Given the description of an element on the screen output the (x, y) to click on. 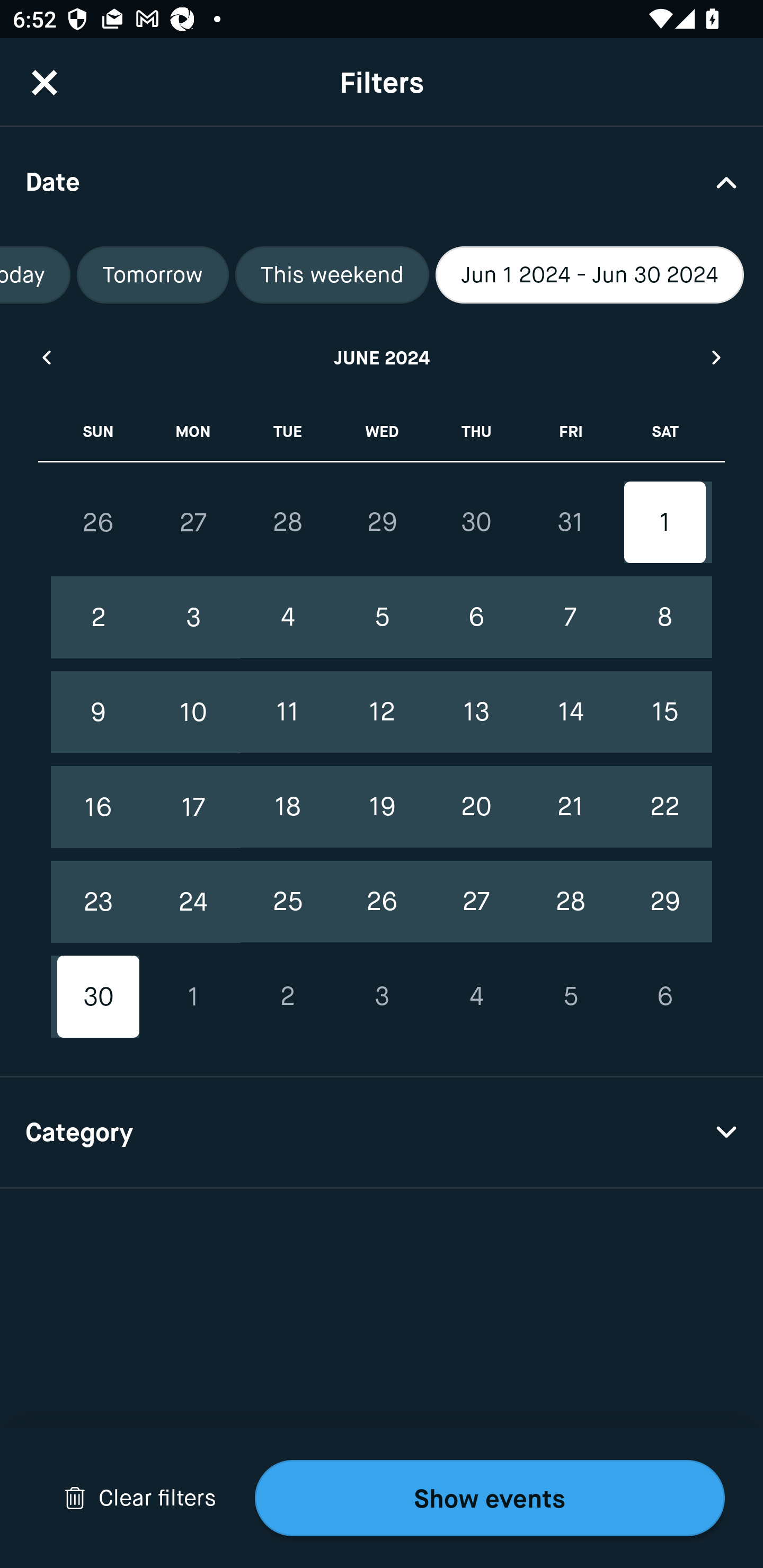
CloseButton (44, 82)
Date Drop Down Arrow (381, 181)
Tomorrow (152, 274)
This weekend (331, 274)
Jun 1 2024 - Jun 30 2024 (589, 274)
Previous (45, 357)
Next (717, 357)
26 (98, 522)
27 (192, 522)
28 (287, 522)
29 (381, 522)
30 (475, 522)
31 (570, 522)
1 (664, 522)
2 (98, 617)
3 (192, 617)
4 (287, 617)
5 (381, 617)
6 (475, 617)
7 (570, 617)
8 (664, 617)
9 (98, 711)
10 (192, 711)
11 (287, 711)
12 (381, 711)
13 (475, 711)
14 (570, 711)
15 (664, 711)
16 (98, 806)
17 (192, 806)
18 (287, 806)
19 (381, 806)
20 (475, 806)
21 (570, 806)
22 (664, 806)
23 (98, 901)
24 (192, 901)
25 (287, 901)
26 (381, 901)
27 (475, 901)
28 (570, 901)
29 (664, 901)
30 (98, 996)
1 (192, 996)
2 (287, 996)
3 (381, 996)
4 (475, 996)
5 (570, 996)
6 (664, 996)
Category Drop Down Arrow (381, 1132)
